Given the description of an element on the screen output the (x, y) to click on. 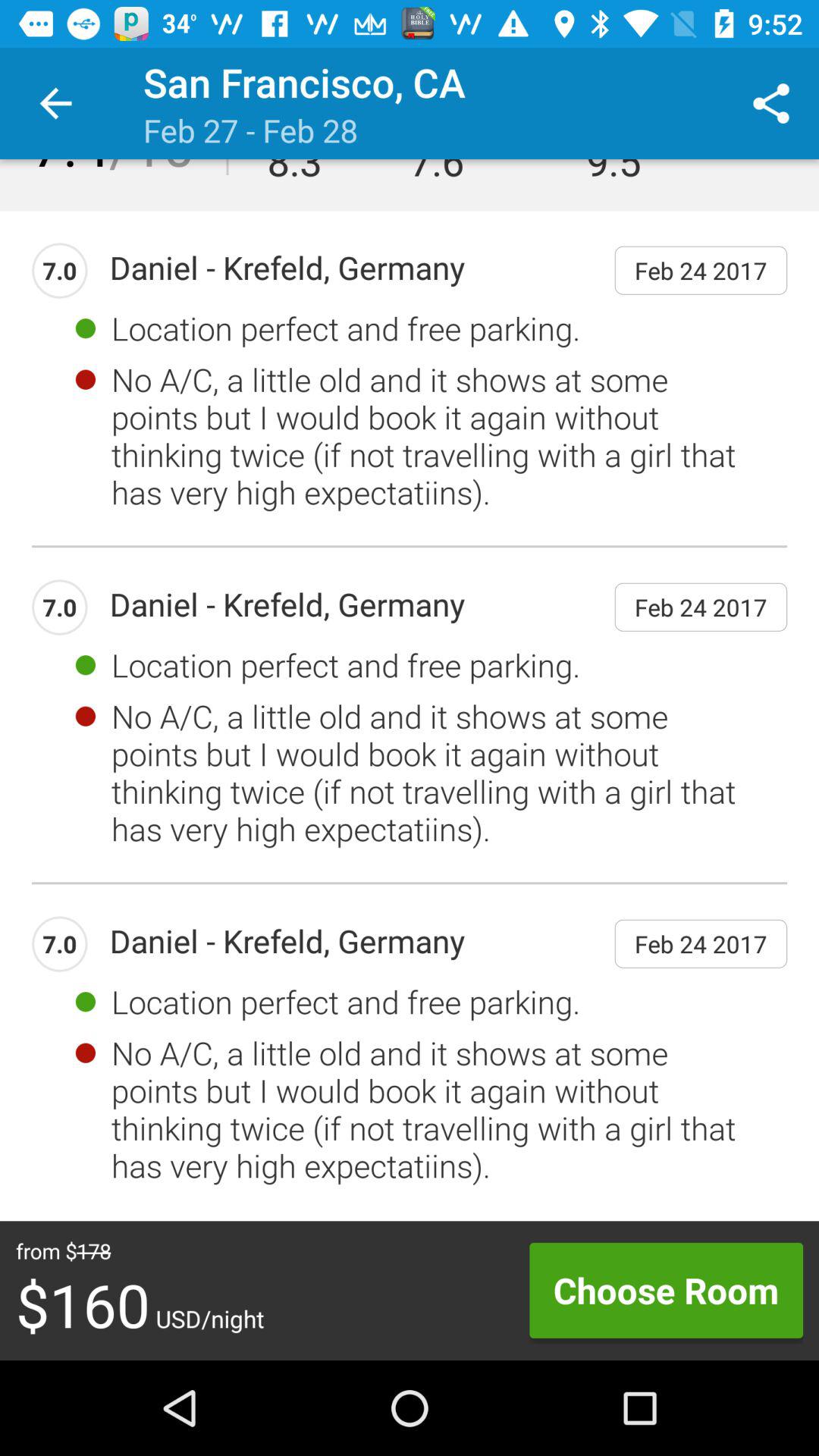
swipe until choose room item (666, 1290)
